Given the description of an element on the screen output the (x, y) to click on. 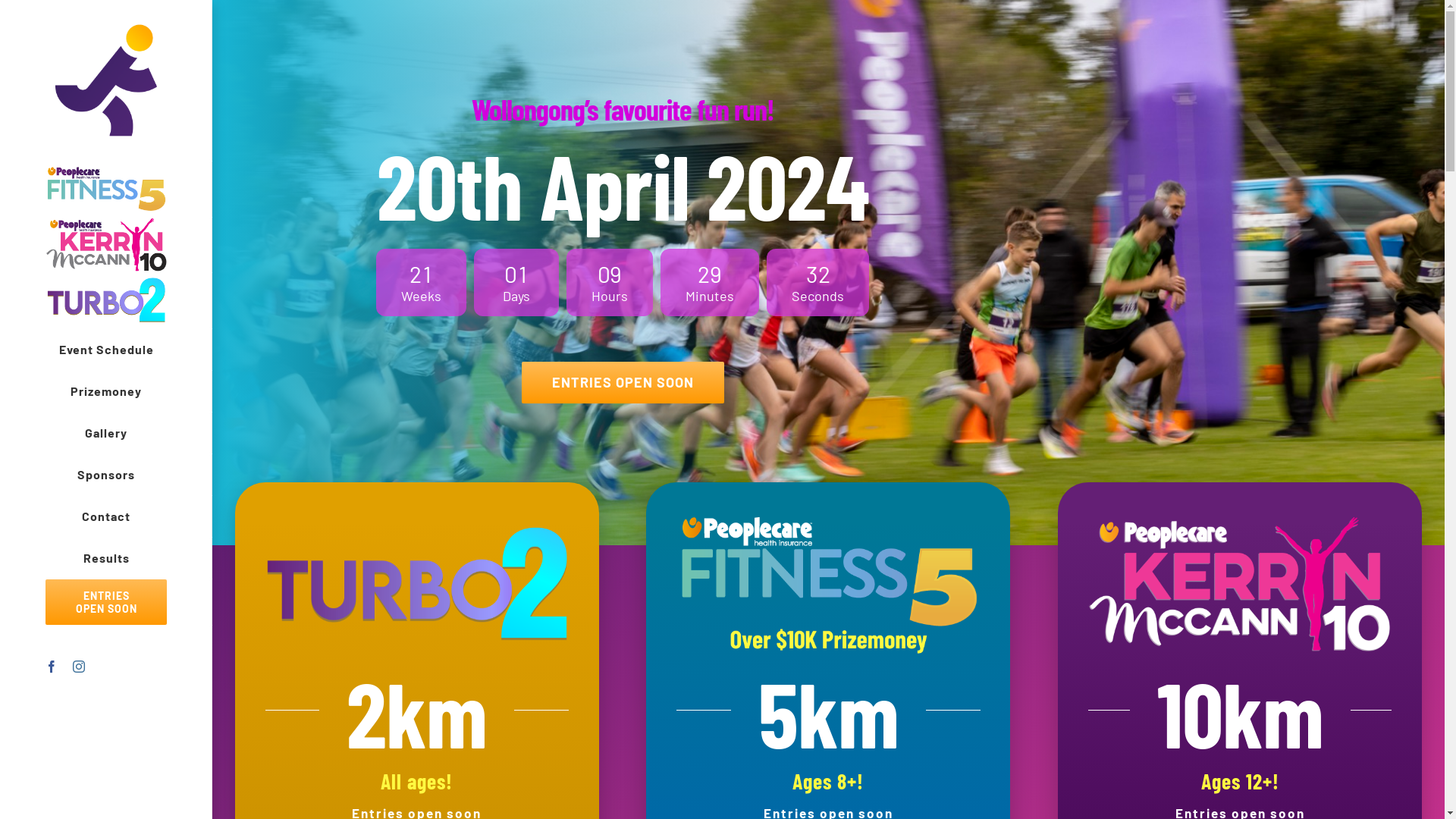
ENTRIES OPEN SOON Element type: text (106, 602)
turbo2 Element type: hover (105, 299)
Facebook Element type: text (51, 666)
Contact Element type: text (106, 516)
turbo-2 Element type: hover (416, 583)
Prizemoney Element type: text (106, 391)
Sponsors Element type: text (106, 474)
Instagram Element type: text (78, 666)
ENTRIES OPEN SOON Element type: text (622, 382)
k10-logo-white-2021-v2-2x Element type: hover (1239, 583)
Event Schedule Element type: text (106, 349)
Results Element type: text (106, 558)
Gallery Element type: text (106, 433)
fitness-5 Element type: hover (827, 583)
Kerryn10-Logo Element type: hover (105, 244)
